Given the description of an element on the screen output the (x, y) to click on. 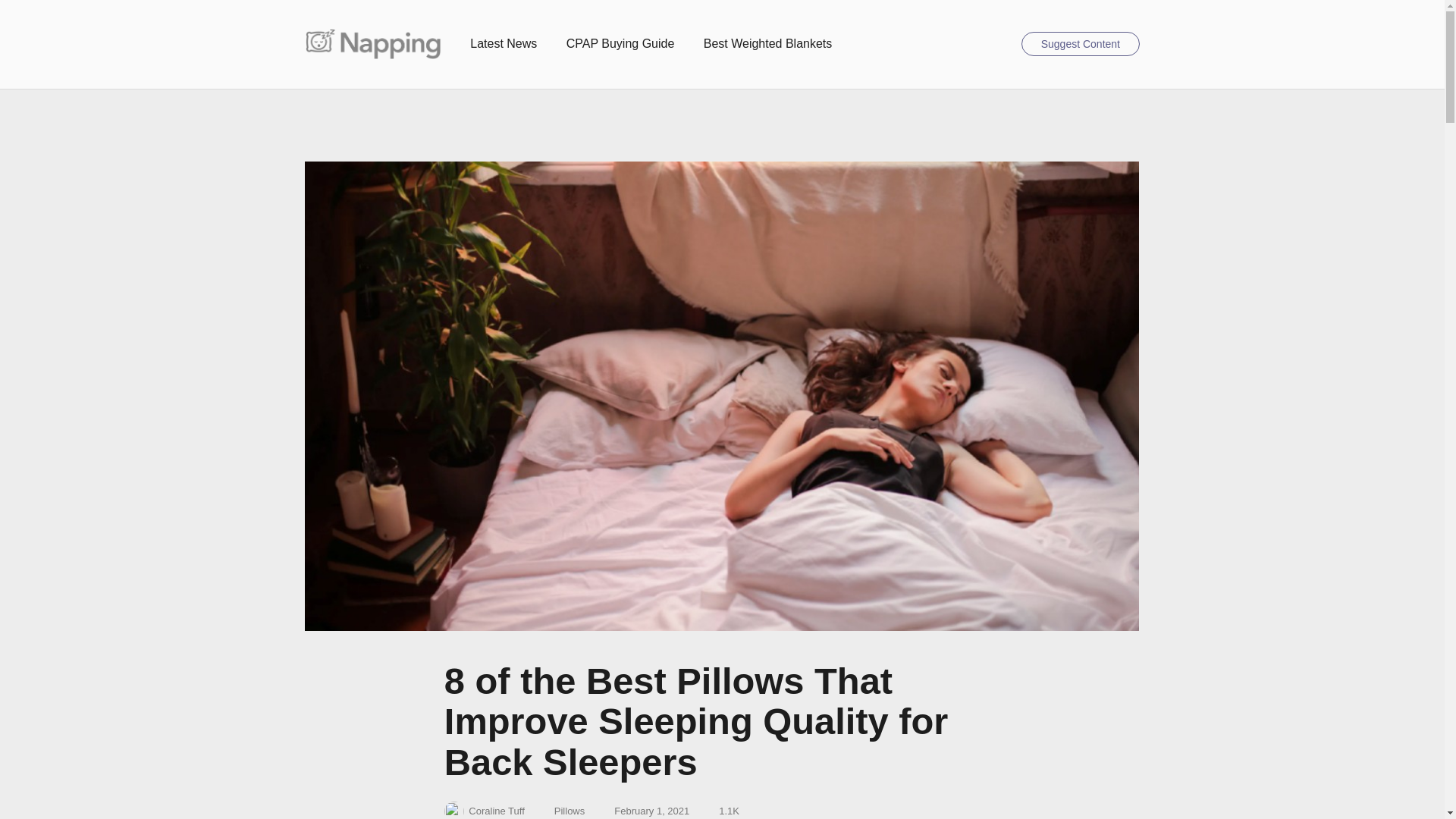
Best Weighted Blankets (767, 44)
Latest News (503, 44)
CPAP Buying Guide (620, 44)
Napping.com (372, 43)
Search (1002, 43)
Published: 2021-02-01 21:21 (643, 811)
Terms (561, 811)
Suggest Content (1080, 43)
Author (484, 810)
Views (720, 811)
